Given the description of an element on the screen output the (x, y) to click on. 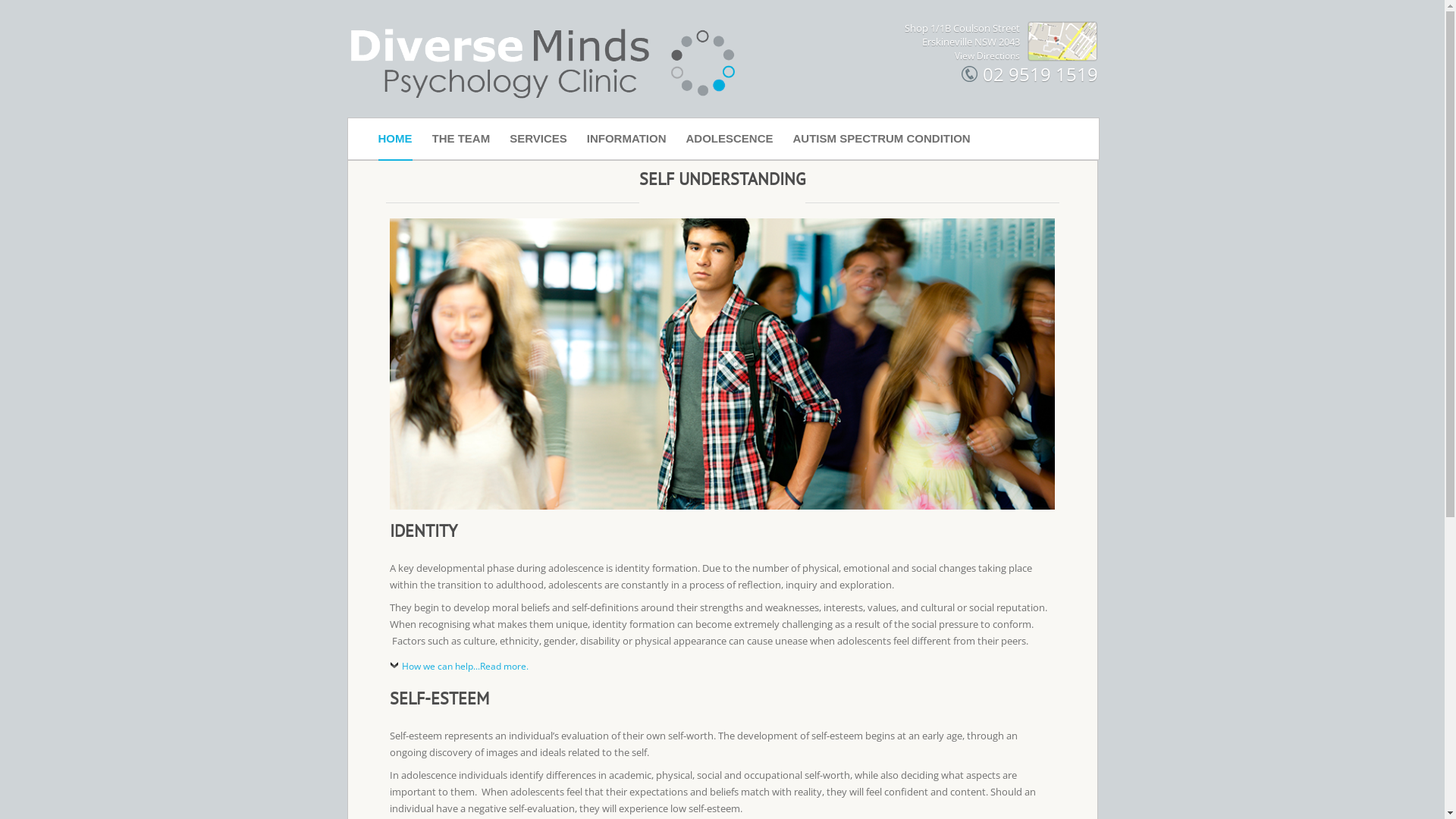
AUTISM SPECTRUM CONDITION Element type: text (881, 138)
INFORMATION Element type: text (626, 138)
HOME Element type: text (394, 138)
Shop 1/1B Coulson Street, Erskineville NSW 2043 Element type: hover (1061, 41)
ADOLESCENCE Element type: text (728, 138)
THE TEAM Element type: text (461, 138)
View Directions Element type: text (986, 55)
SERVICES Element type: text (538, 138)
